Given the description of an element on the screen output the (x, y) to click on. 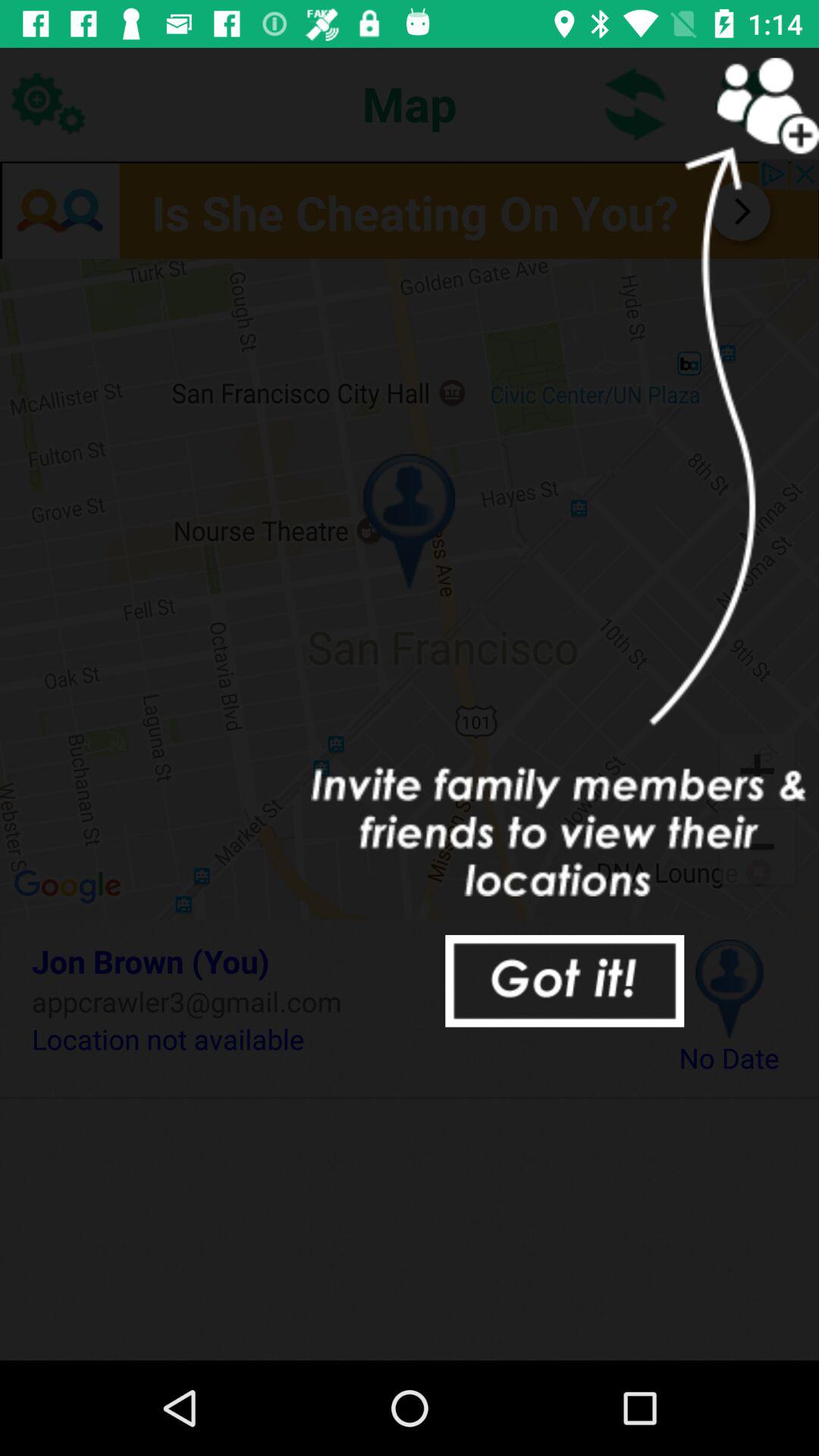
press item to the left of the no date icon (332, 1038)
